Given the description of an element on the screen output the (x, y) to click on. 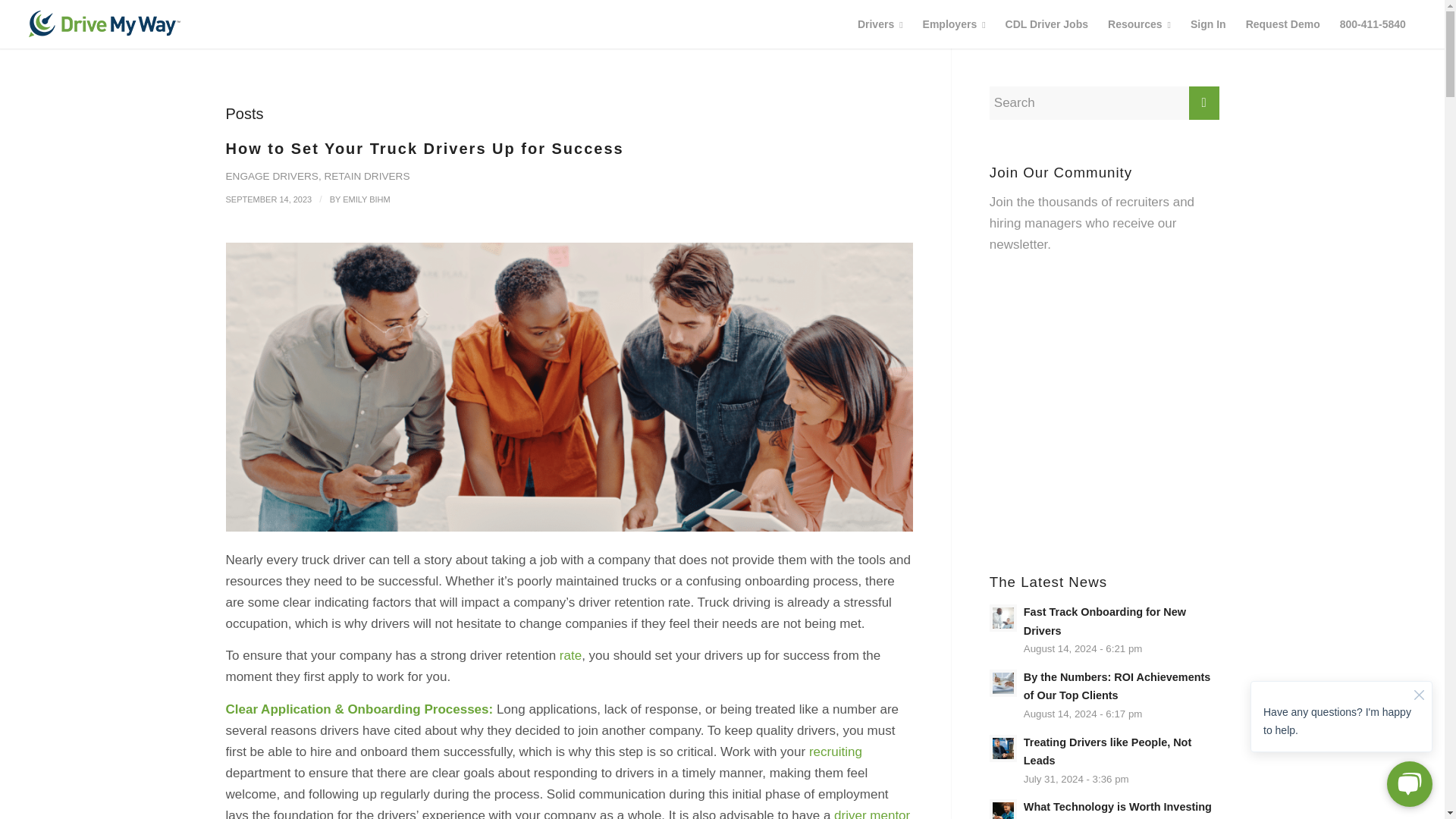
800-411-5840 (1372, 24)
CDL Driver Jobs (1046, 24)
EMILY BIHM (366, 198)
driver mentor program (568, 813)
Resources (1138, 24)
Posts by Emily Bihm (366, 198)
ENGAGE DRIVERS (271, 175)
Treating Drivers like People, Not Leads (1105, 760)
Sign In (1208, 24)
